Given the description of an element on the screen output the (x, y) to click on. 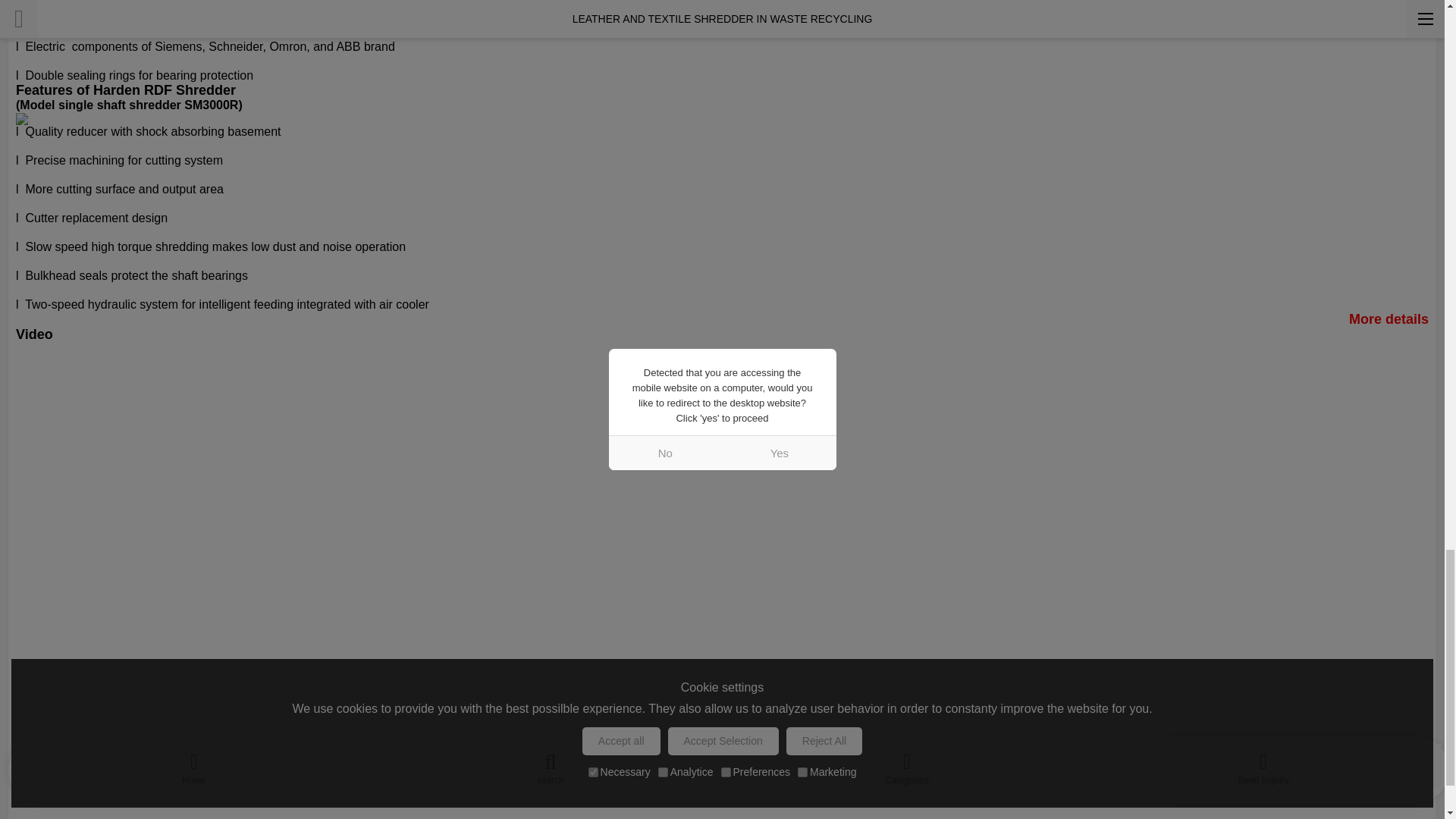
YouTube video player (228, 462)
